Given the description of an element on the screen output the (x, y) to click on. 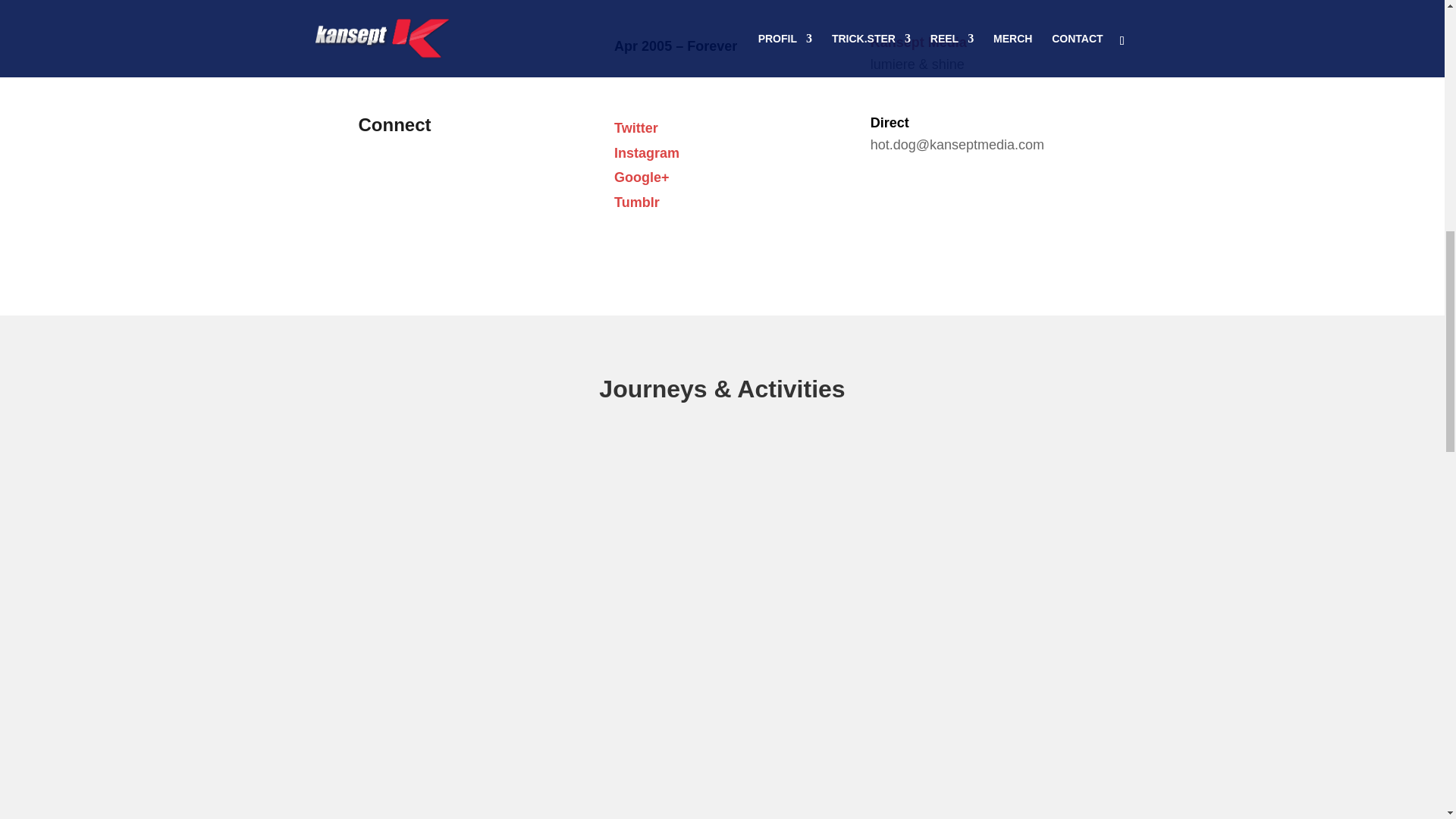
Instagram (646, 152)
Twitter (636, 127)
Tumblr (636, 201)
